Given the description of an element on the screen output the (x, y) to click on. 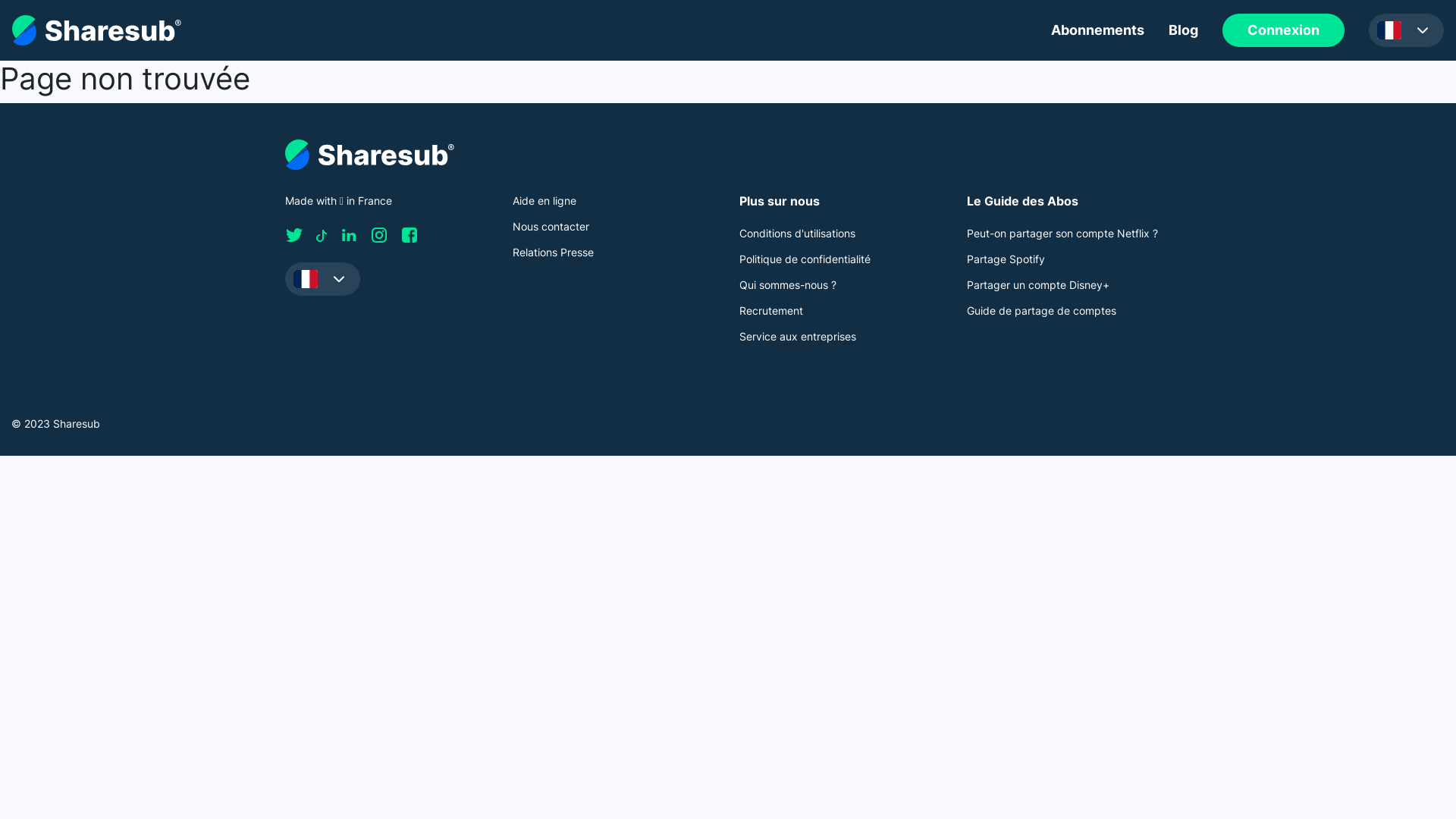
Nous contacter Element type: text (550, 225)
Partage Spotify Element type: text (1005, 258)
Aide en ligne Element type: text (544, 200)
Blog Element type: text (1183, 29)
Recrutement Element type: text (771, 310)
Conditions d'utilisations Element type: text (797, 232)
Partager un compte Disney+ Element type: text (1037, 284)
Guide de partage de comptes Element type: text (1040, 310)
Relations Presse Element type: text (552, 251)
Service aux entreprises Element type: text (797, 335)
Peut-on partager son compte Netflix ? Element type: text (1061, 232)
Qui sommes-nous ? Element type: text (787, 284)
Abonnements Element type: text (1097, 29)
Connexion Element type: text (1283, 30)
